Given the description of an element on the screen output the (x, y) to click on. 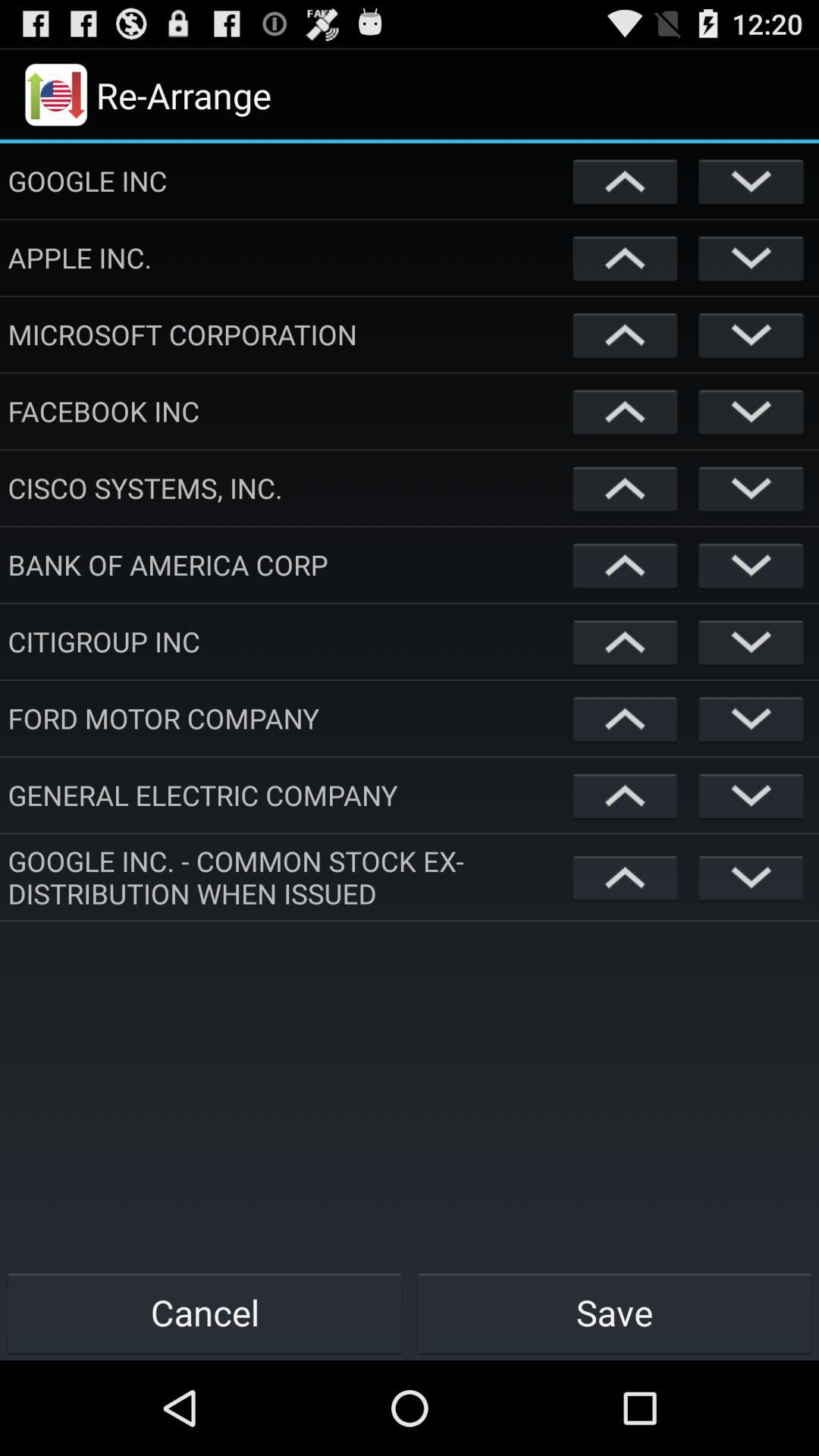
choose the bank of america (286, 564)
